Given the description of an element on the screen output the (x, y) to click on. 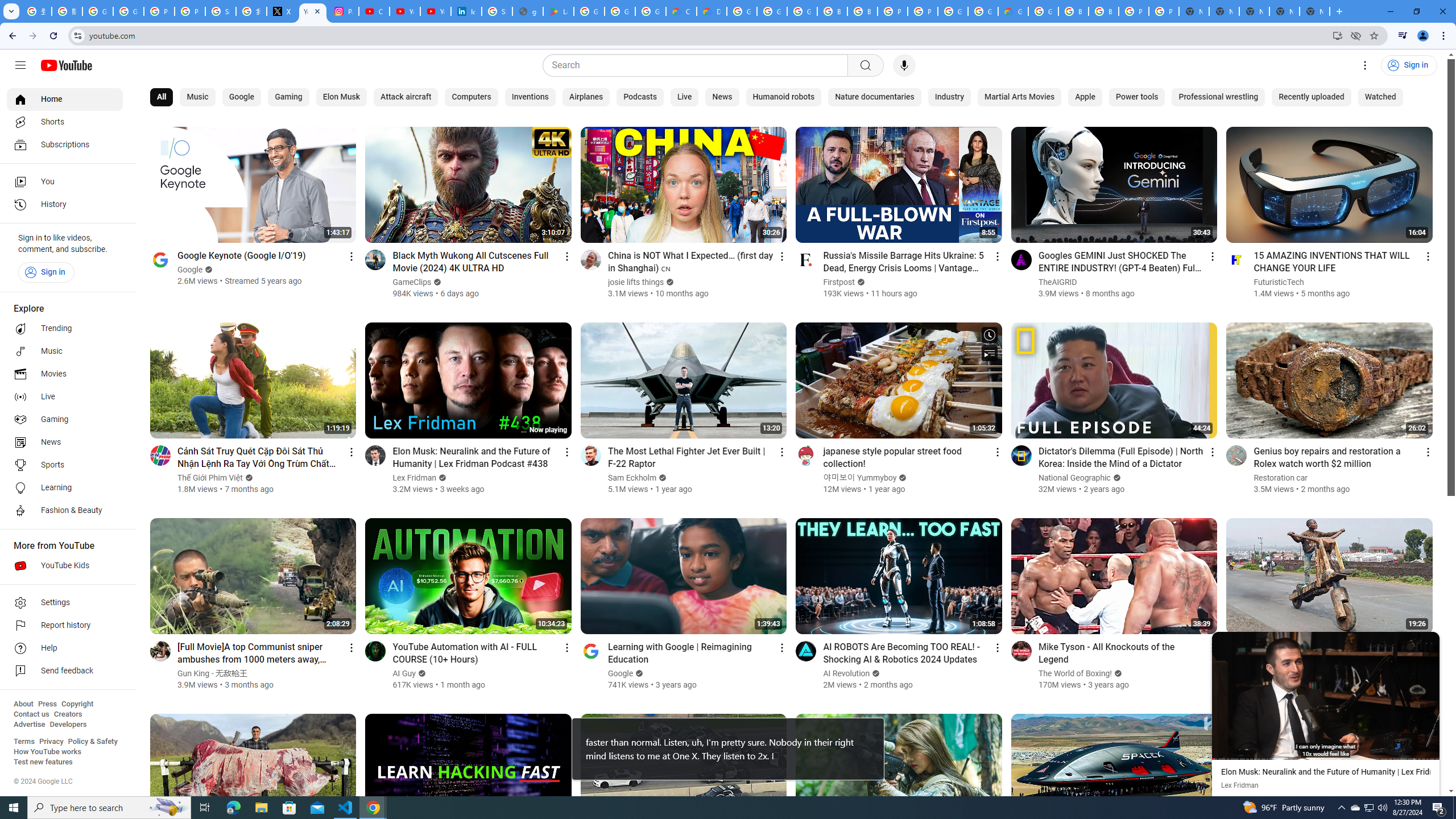
The World of Boxing! (1075, 673)
AI Guy (404, 673)
X (282, 11)
Advertise (29, 724)
YouTube Home (66, 65)
Search (865, 65)
Pause (k) (1325, 694)
Search with your voice (903, 65)
YouTube Kids (64, 565)
